Given the description of an element on the screen output the (x, y) to click on. 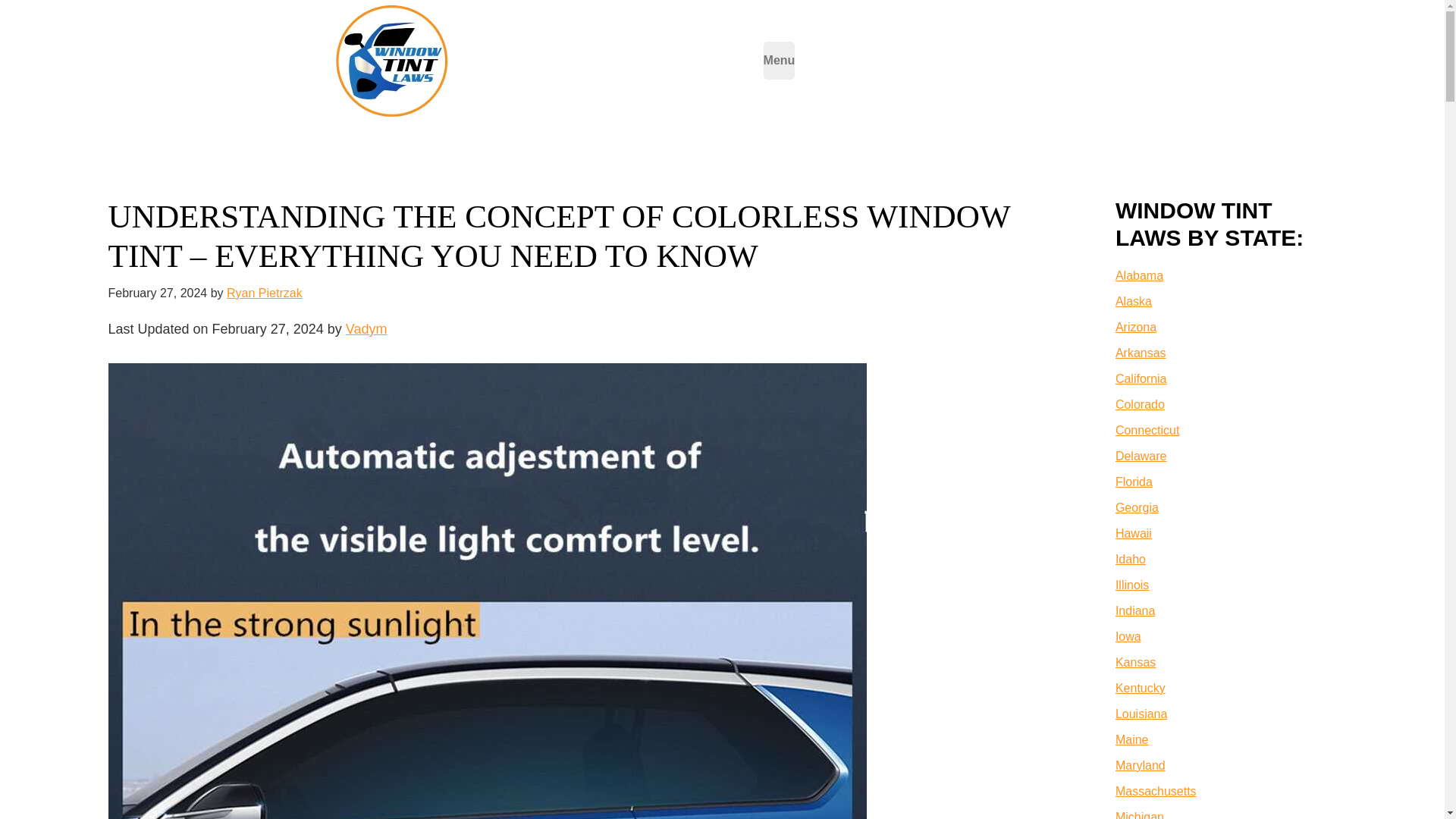
Alaska (1133, 300)
Arizona (1135, 327)
Idaho (1130, 558)
Ryan Pietrzak (264, 292)
Alabama (1139, 275)
Massachusetts (1155, 790)
Illinois (1131, 584)
Maryland (1140, 765)
